Given the description of an element on the screen output the (x, y) to click on. 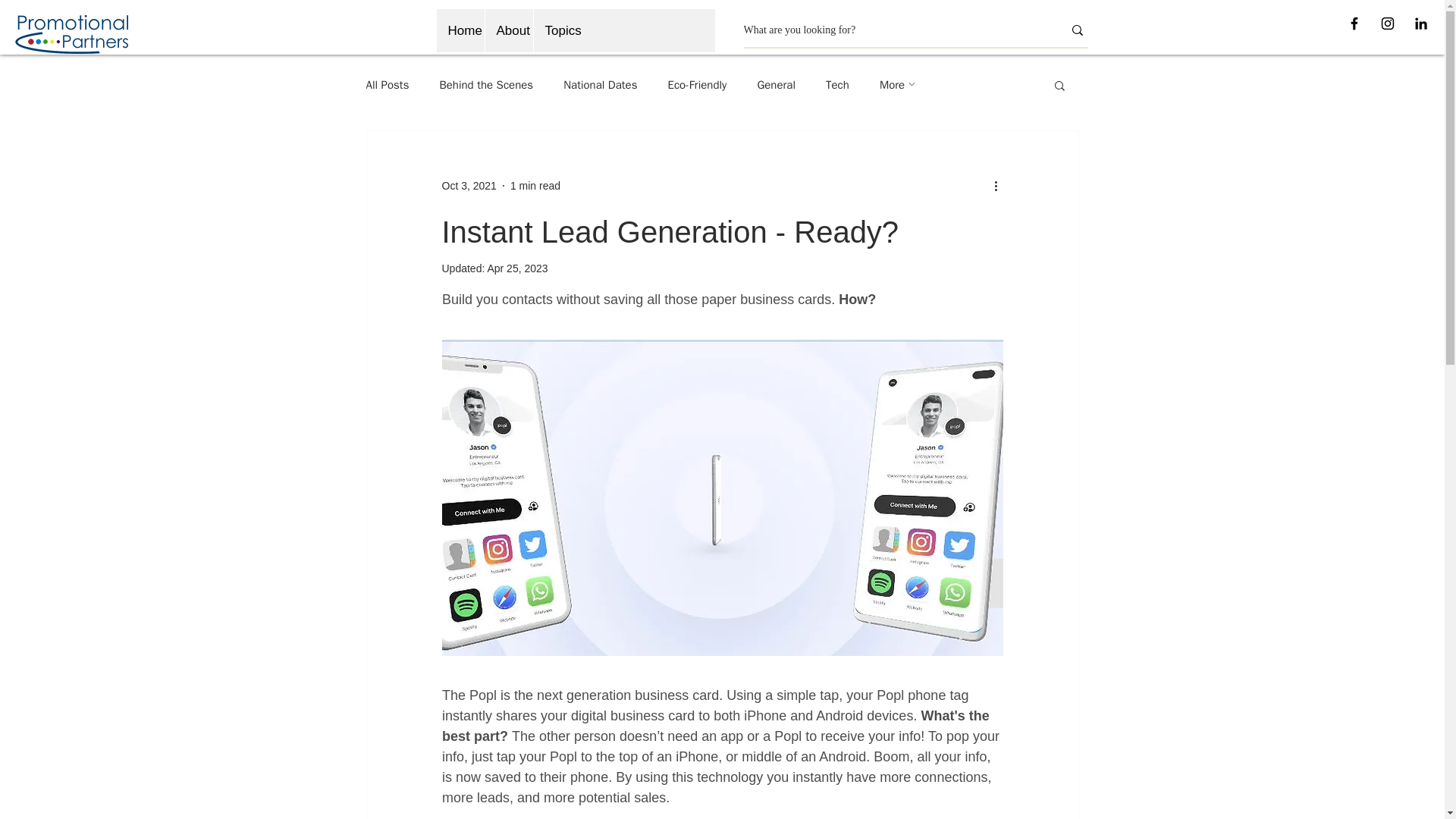
Oct 3, 2021 (468, 184)
All Posts (387, 83)
Behind the Scenes (485, 83)
Home (460, 30)
National Dates (600, 83)
Tech (836, 83)
1 min read (535, 184)
Eco-Friendly (696, 83)
About (507, 30)
Apr 25, 2023 (516, 268)
Logo.png (71, 34)
Topics (556, 30)
General (775, 83)
